Given the description of an element on the screen output the (x, y) to click on. 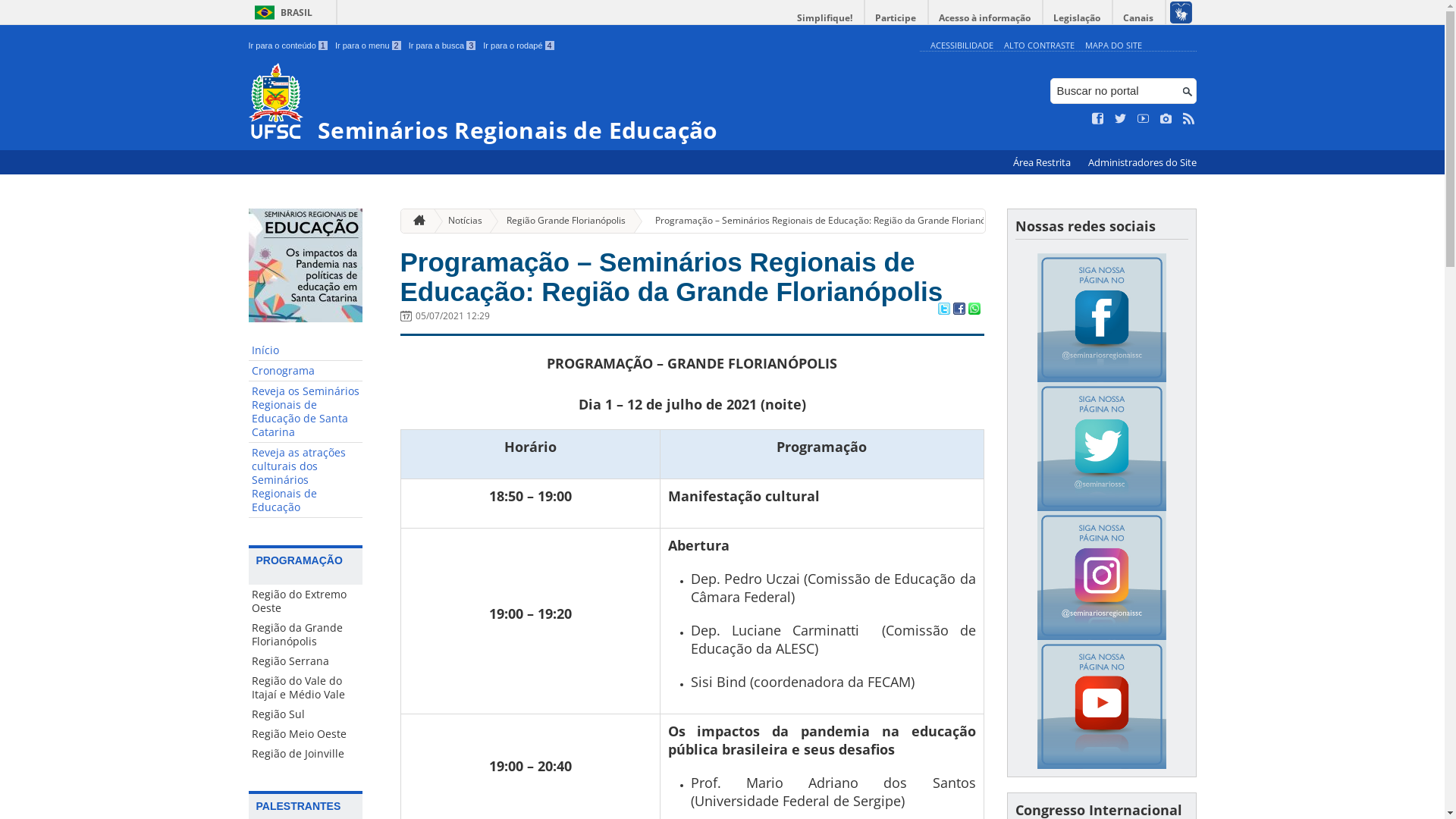
Simplifique! Element type: text (825, 18)
Compartilhar no Facebook Element type: hover (958, 309)
Ir para o menu 2 Element type: text (368, 45)
MAPA DO SITE Element type: text (1112, 44)
ACESSIBILIDADE Element type: text (960, 44)
Administradores do Site Element type: text (1141, 162)
Ir para a busca 3 Element type: text (442, 45)
BRASIL Element type: text (280, 12)
Compartilhar no WhatsApp Element type: hover (973, 309)
Participe Element type: text (895, 18)
Veja no Instagram Element type: hover (1166, 118)
ALTO CONTRASTE Element type: text (1039, 44)
Canais Element type: text (1138, 18)
Curta no Facebook Element type: hover (1098, 118)
Cronograma Element type: text (305, 370)
Siga no Twitter Element type: hover (1120, 118)
Compartilhar no Twitter Element type: hover (943, 309)
